Given the description of an element on the screen output the (x, y) to click on. 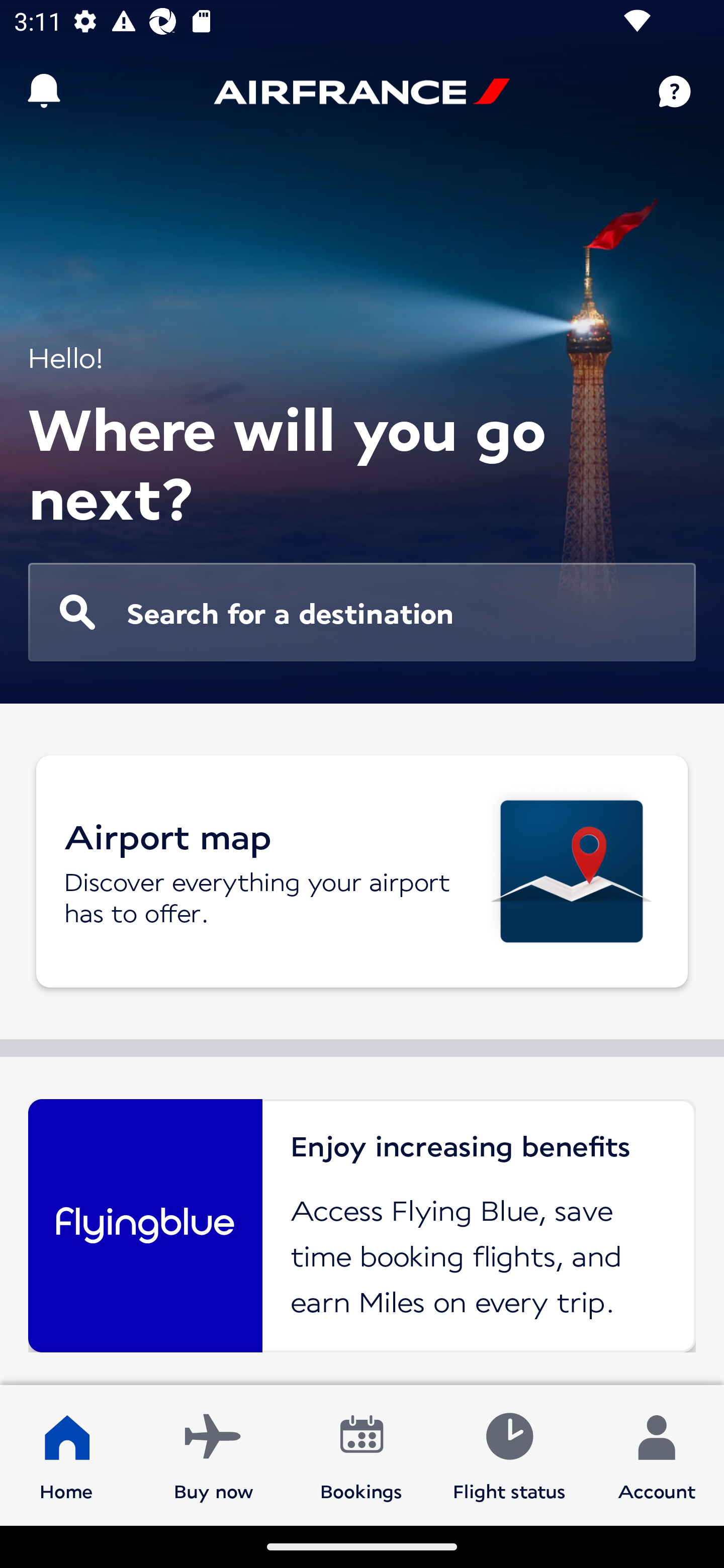
Search for a destination (361, 611)
Buy now (213, 1454)
Bookings (361, 1454)
Flight status (509, 1454)
Account (657, 1454)
